Given the description of an element on the screen output the (x, y) to click on. 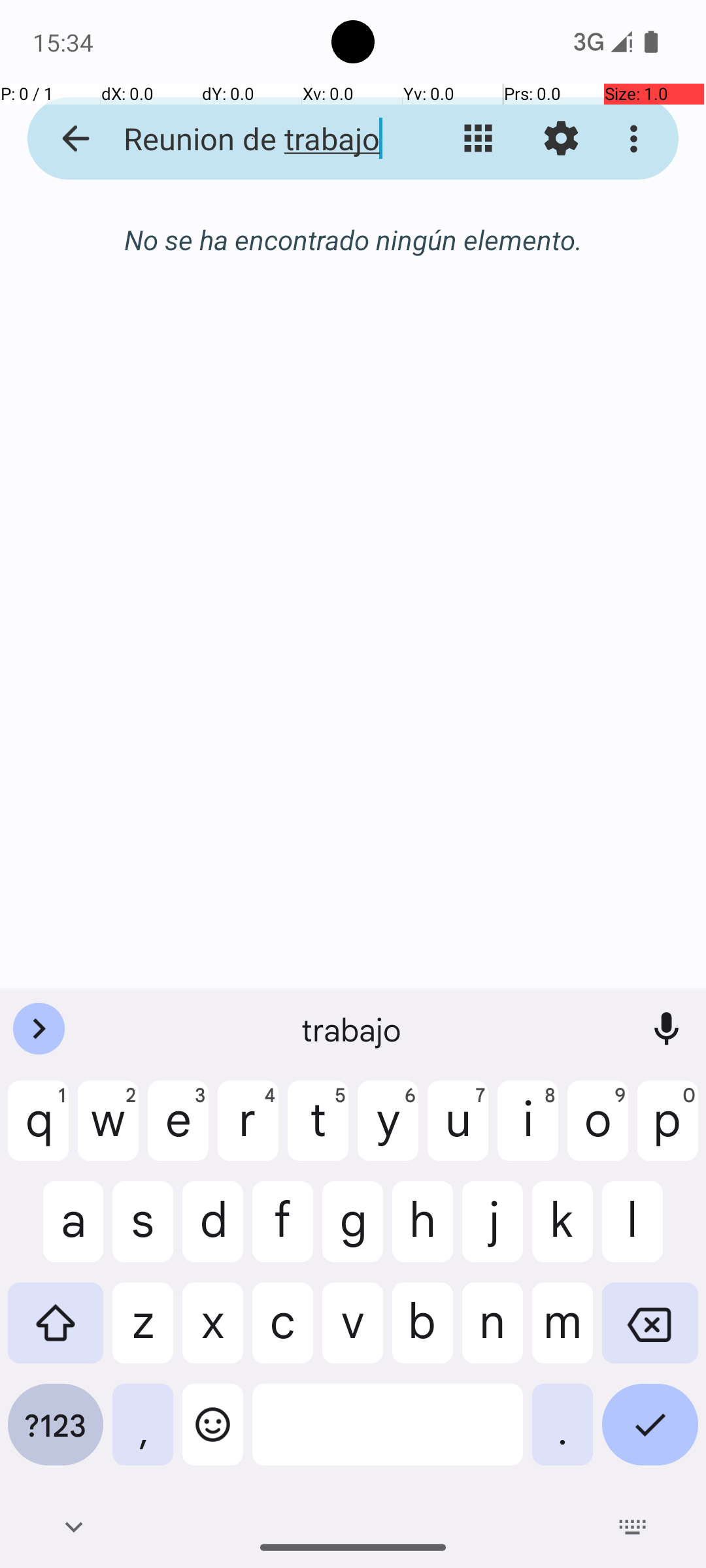
Reunion de trabajo Element type: android.widget.EditText (252, 138)
No se ha encontrado ningún elemento. Element type: android.widget.TextView (353, 239)
trabajo Element type: android.widget.FrameLayout (352, 1028)
